Given the description of an element on the screen output the (x, y) to click on. 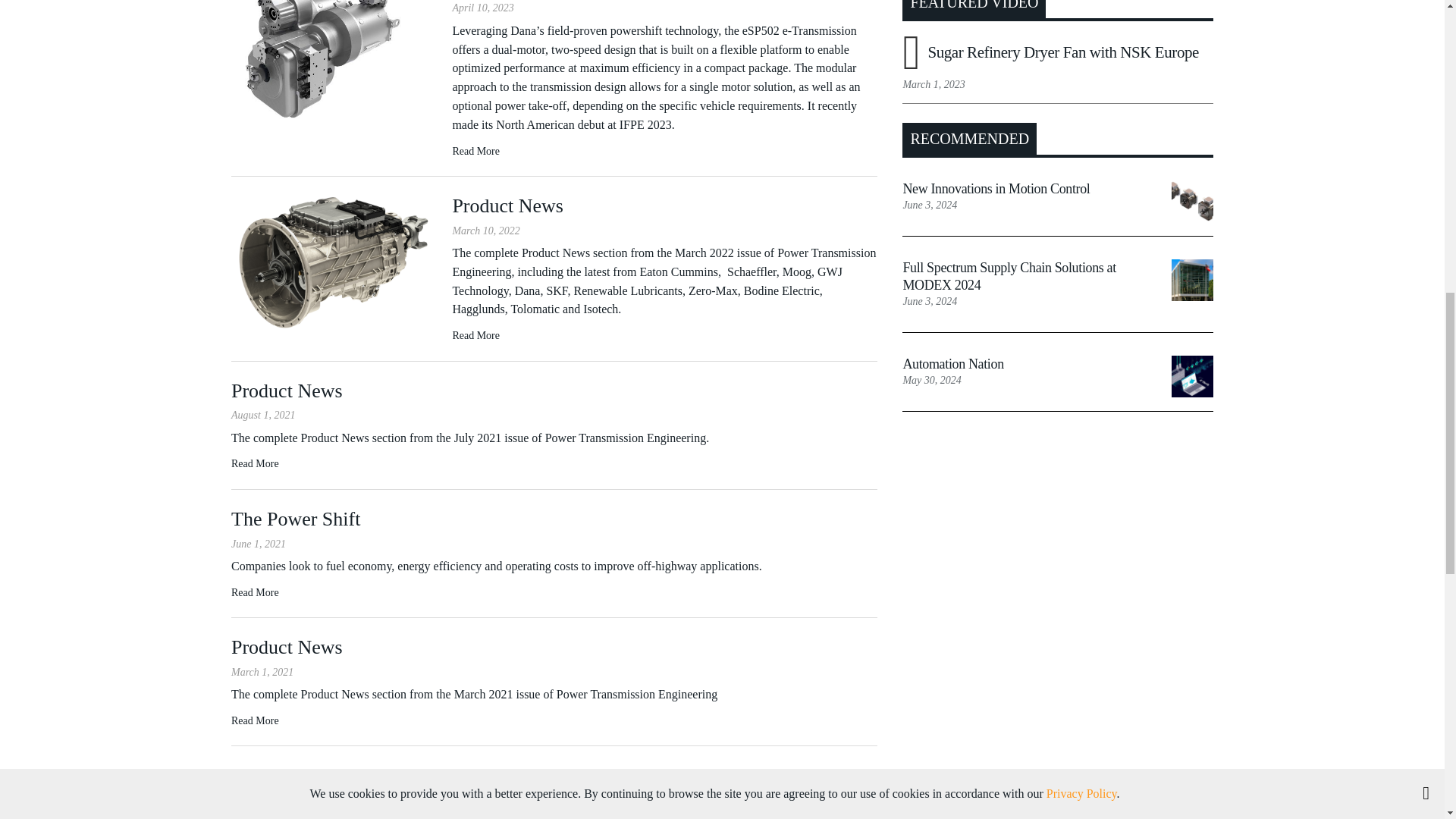
Dana Offers Next-Generation E-Transmission (475, 150)
Dana-Transmission.jpg (333, 61)
Dana Offers Next-Generation E-Transmission (333, 44)
Product News (333, 259)
Product News (255, 463)
Product News (255, 720)
The Power Shift (255, 592)
Product News (475, 334)
